Given the description of an element on the screen output the (x, y) to click on. 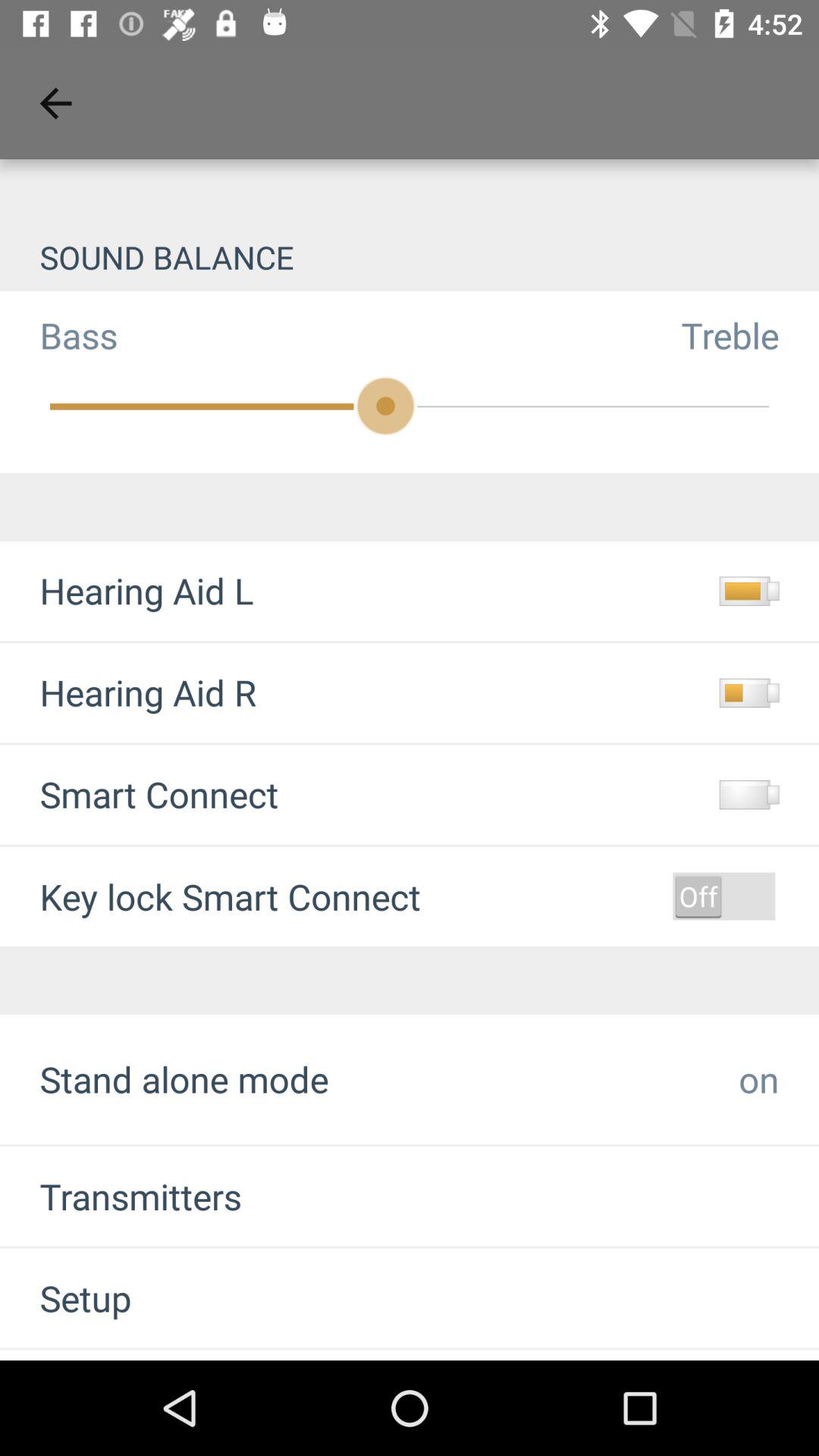
launch icon next to the key lock smart item (723, 896)
